Given the description of an element on the screen output the (x, y) to click on. 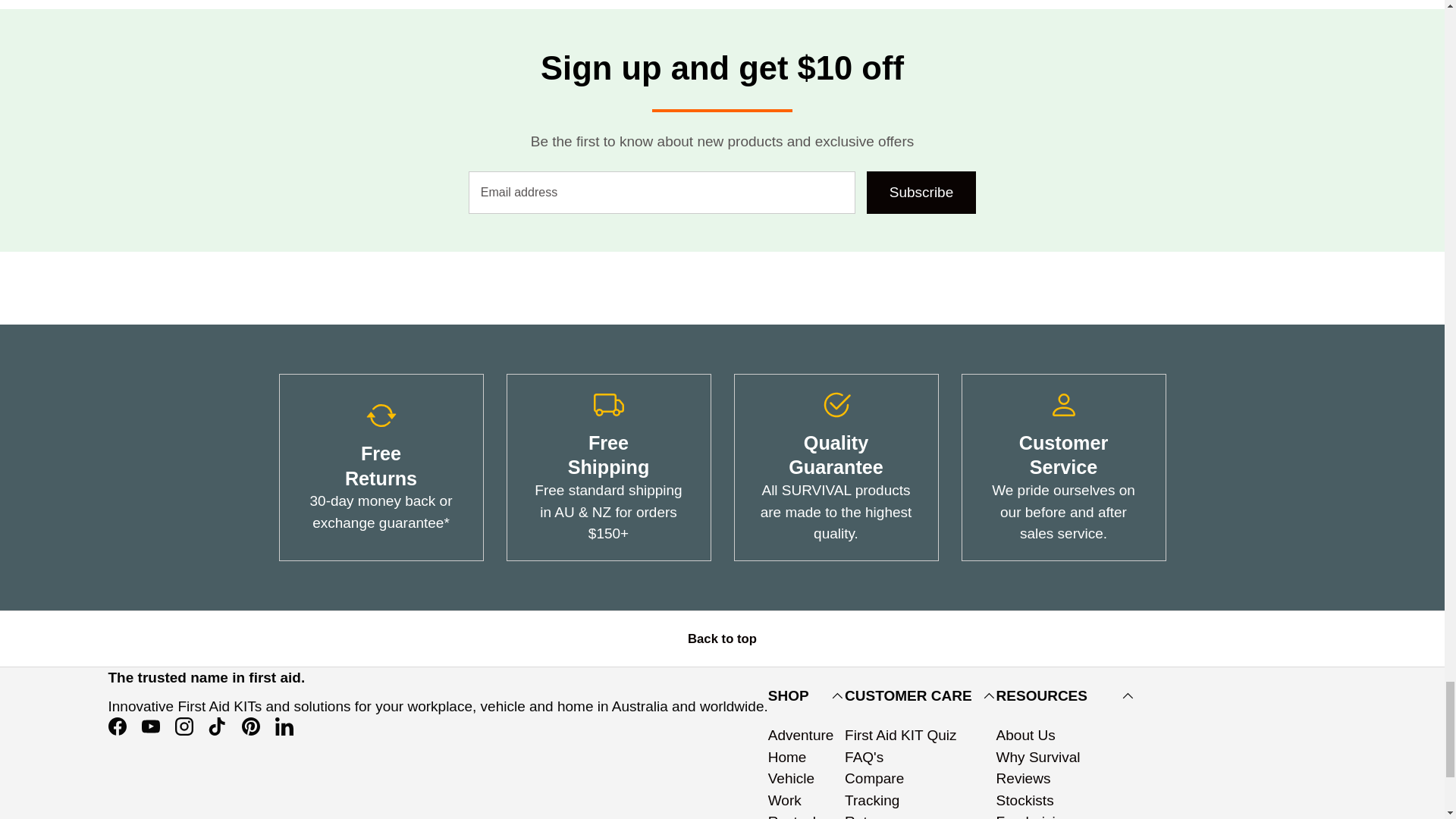
SURVIVAL on TikTok (216, 726)
SURVIVAL on YouTube (150, 726)
SURVIVAL on LinkedIn (282, 726)
SURVIVAL on Instagram (183, 726)
SURVIVAL on Facebook (116, 726)
SURVIVAL on Pinterest (249, 726)
